Given the description of an element on the screen output the (x, y) to click on. 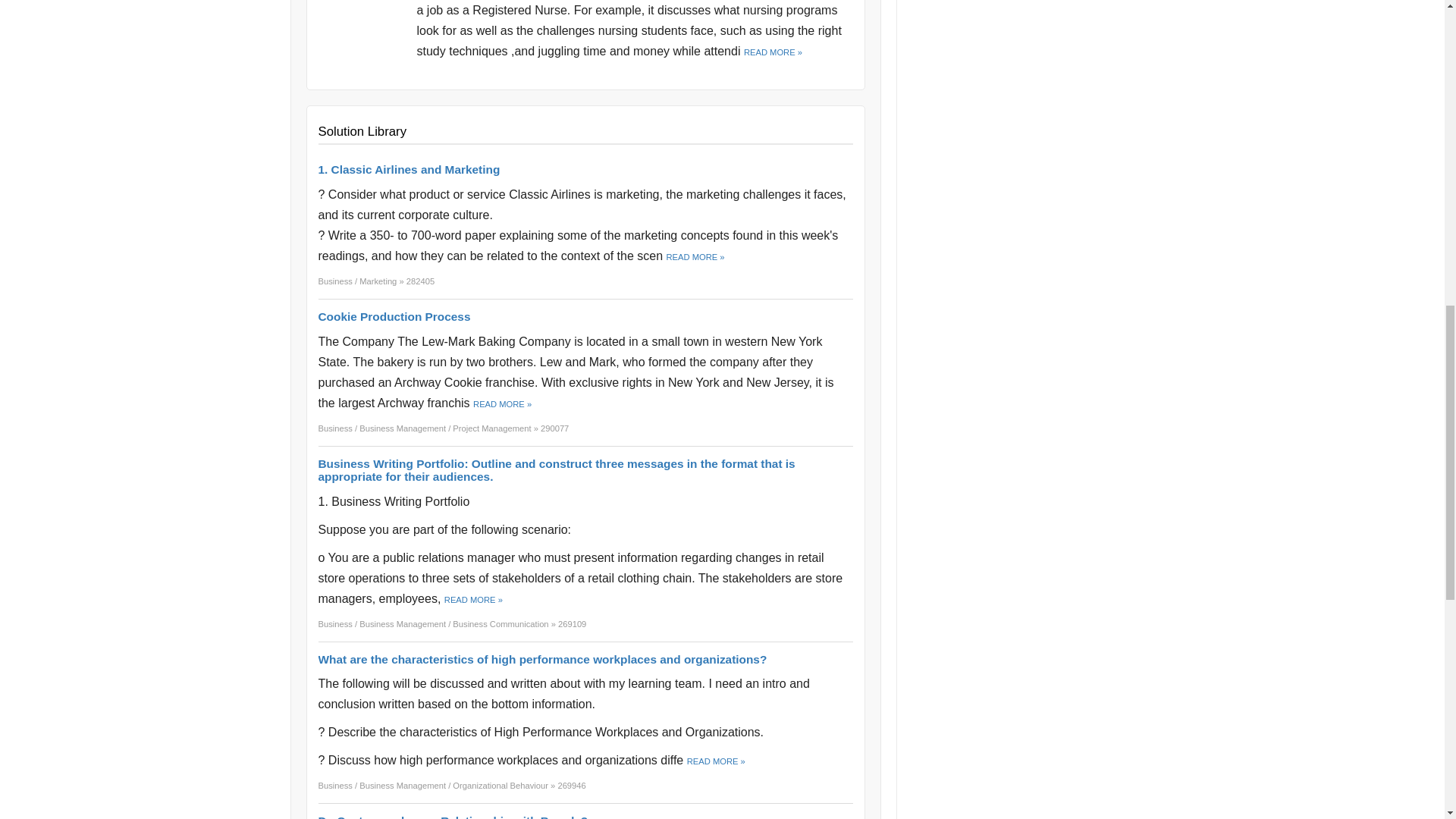
1. Classic Airlines and Marketing (409, 169)
Cookie Production Process (394, 316)
Do Customers have a Relationship with Brands? (453, 816)
